Given the description of an element on the screen output the (x, y) to click on. 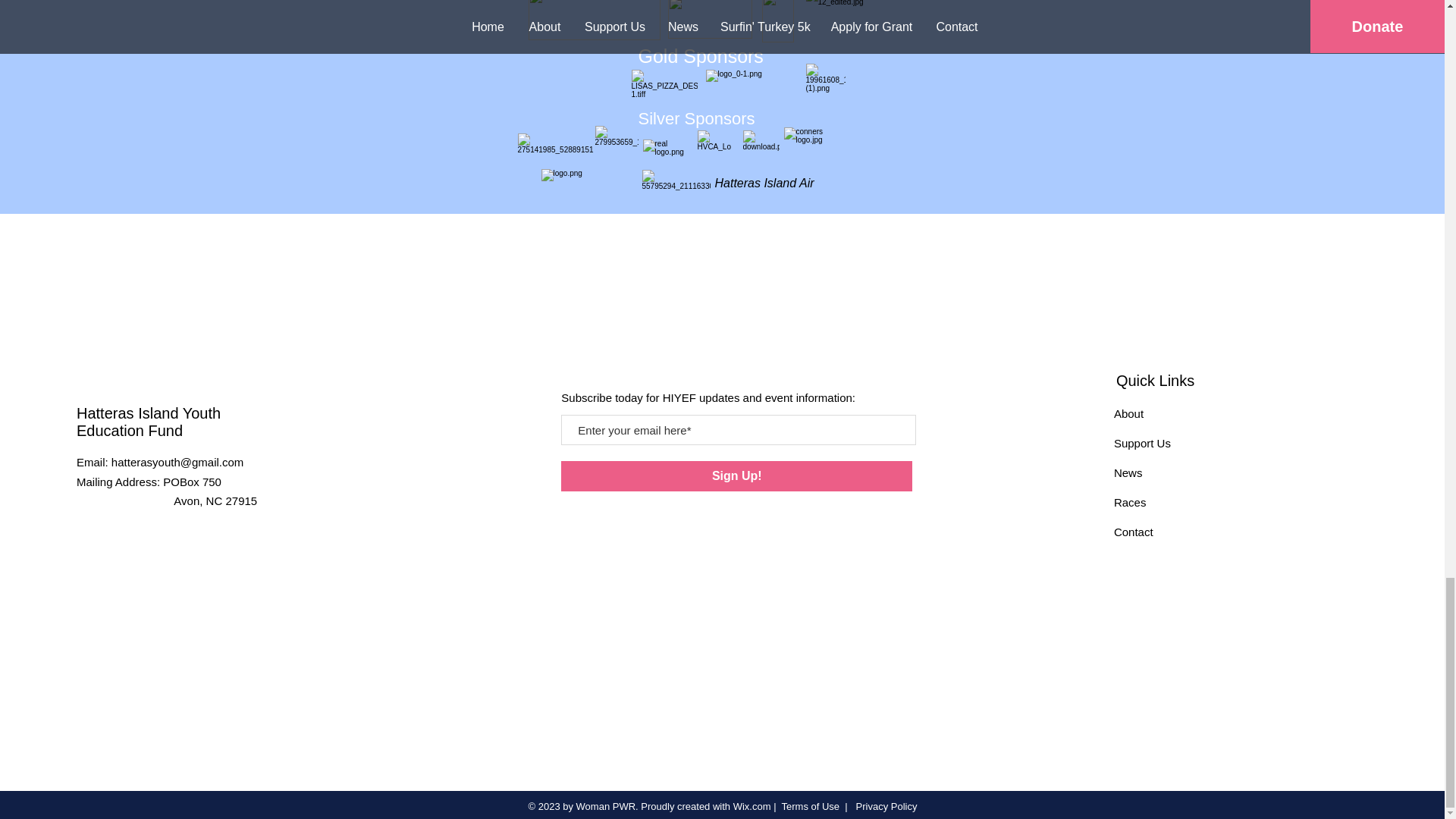
Races (1130, 502)
Support Us (1141, 442)
Sign Up! (736, 476)
News (1127, 472)
About (1127, 413)
